Given the description of an element on the screen output the (x, y) to click on. 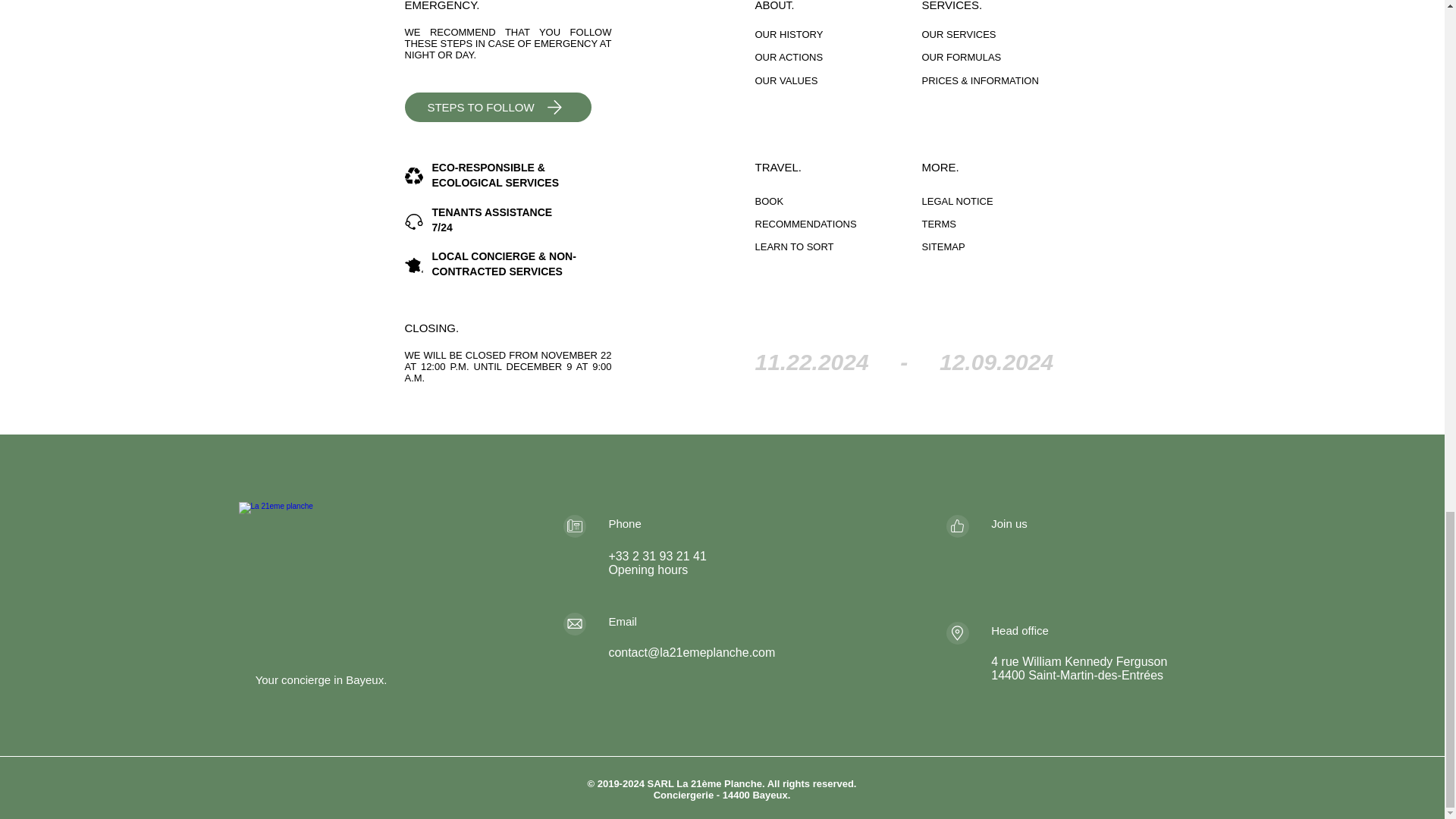
LEGAL NOTICE (1005, 201)
RECOMMENDATIONS (838, 224)
OUR SERVICES (1005, 34)
Opening hours (647, 569)
BOOK (838, 201)
SITEMAP (1005, 247)
TERMS (1005, 224)
STEPS TO FOLLOW (497, 107)
OUR VALUES (838, 80)
LEARN TO SORT (838, 247)
OUR ACTIONS (838, 57)
OUR FORMULAS (1005, 57)
OUR HISTORY (838, 34)
